Given the description of an element on the screen output the (x, y) to click on. 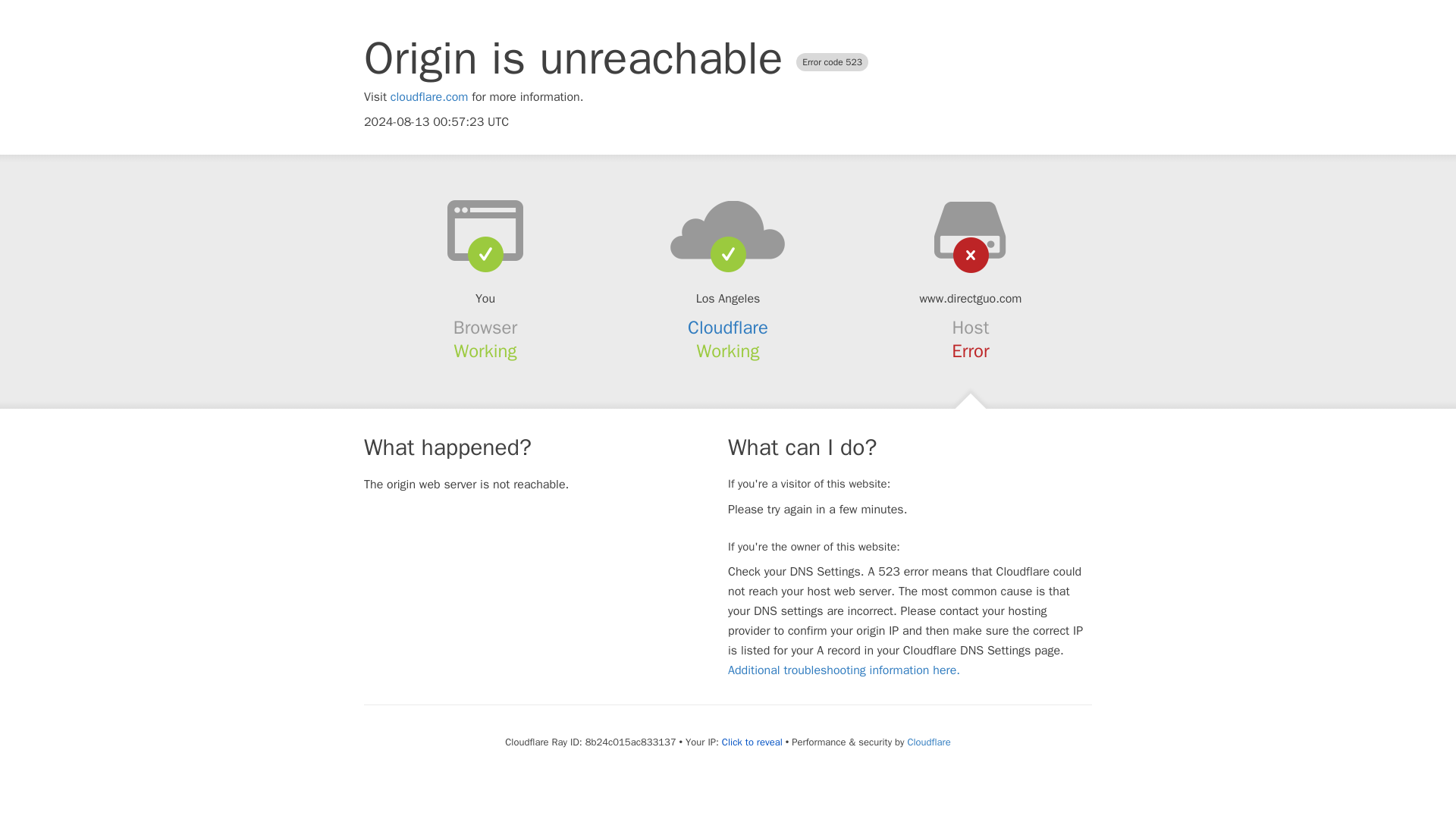
Cloudflare (727, 327)
Additional troubleshooting information here. (843, 670)
Cloudflare (928, 741)
cloudflare.com (429, 96)
Click to reveal (752, 742)
